Given the description of an element on the screen output the (x, y) to click on. 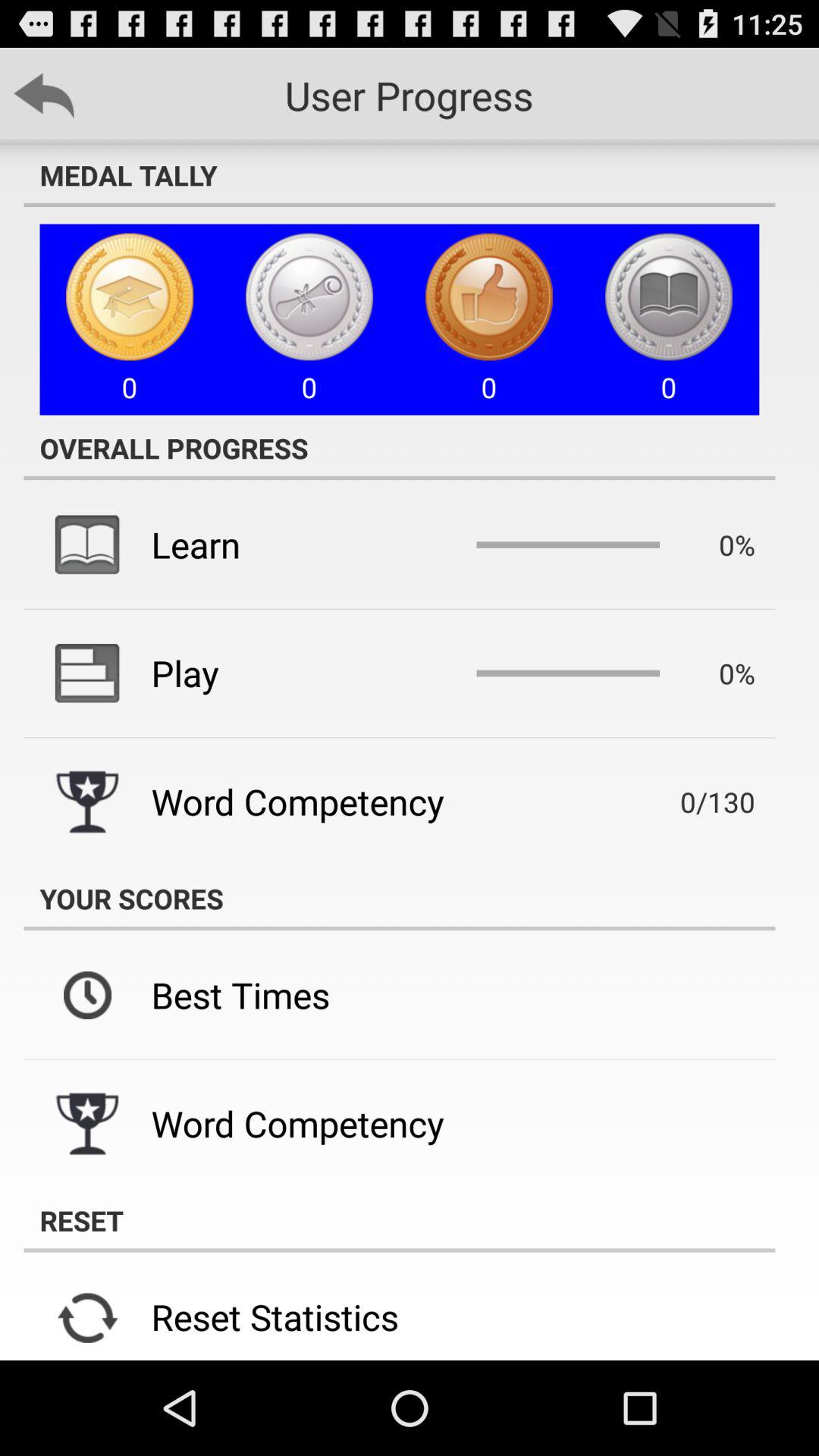
turn off item above the 0 item (399, 175)
